Given the description of an element on the screen output the (x, y) to click on. 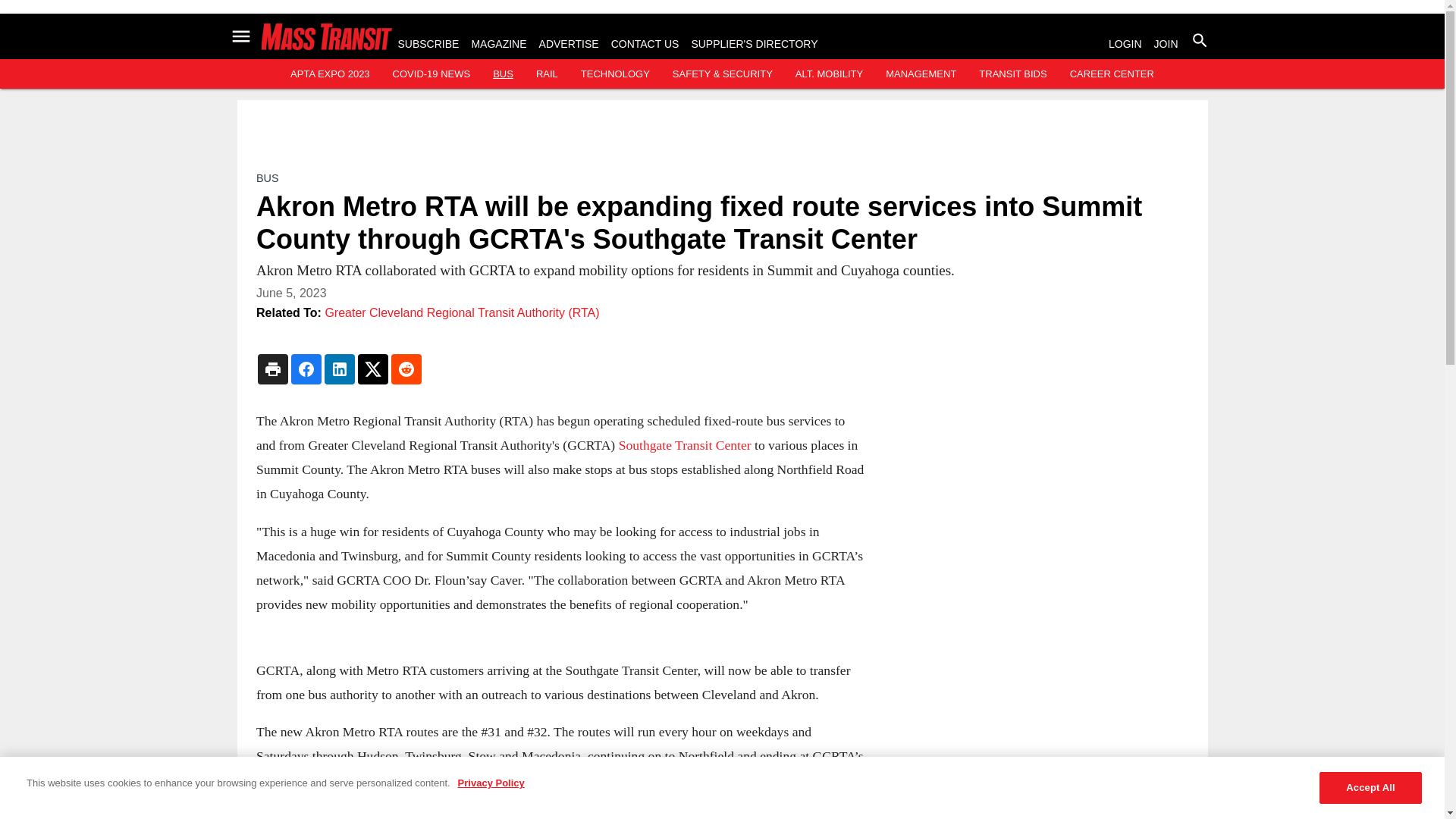
TRANSIT BIDS (1012, 73)
JOIN (1165, 43)
TECHNOLOGY (614, 73)
SUPPLIER'S DIRECTORY (753, 43)
ALT. MOBILITY (828, 73)
APTA EXPO 2023 (329, 73)
COVID-19 NEWS (431, 73)
BUS (503, 73)
LOGIN (1124, 43)
SUBSCRIBE (427, 43)
CONTACT US (645, 43)
RAIL (546, 73)
CAREER CENTER (1112, 73)
ADVERTISE (568, 43)
MANAGEMENT (920, 73)
